Given the description of an element on the screen output the (x, y) to click on. 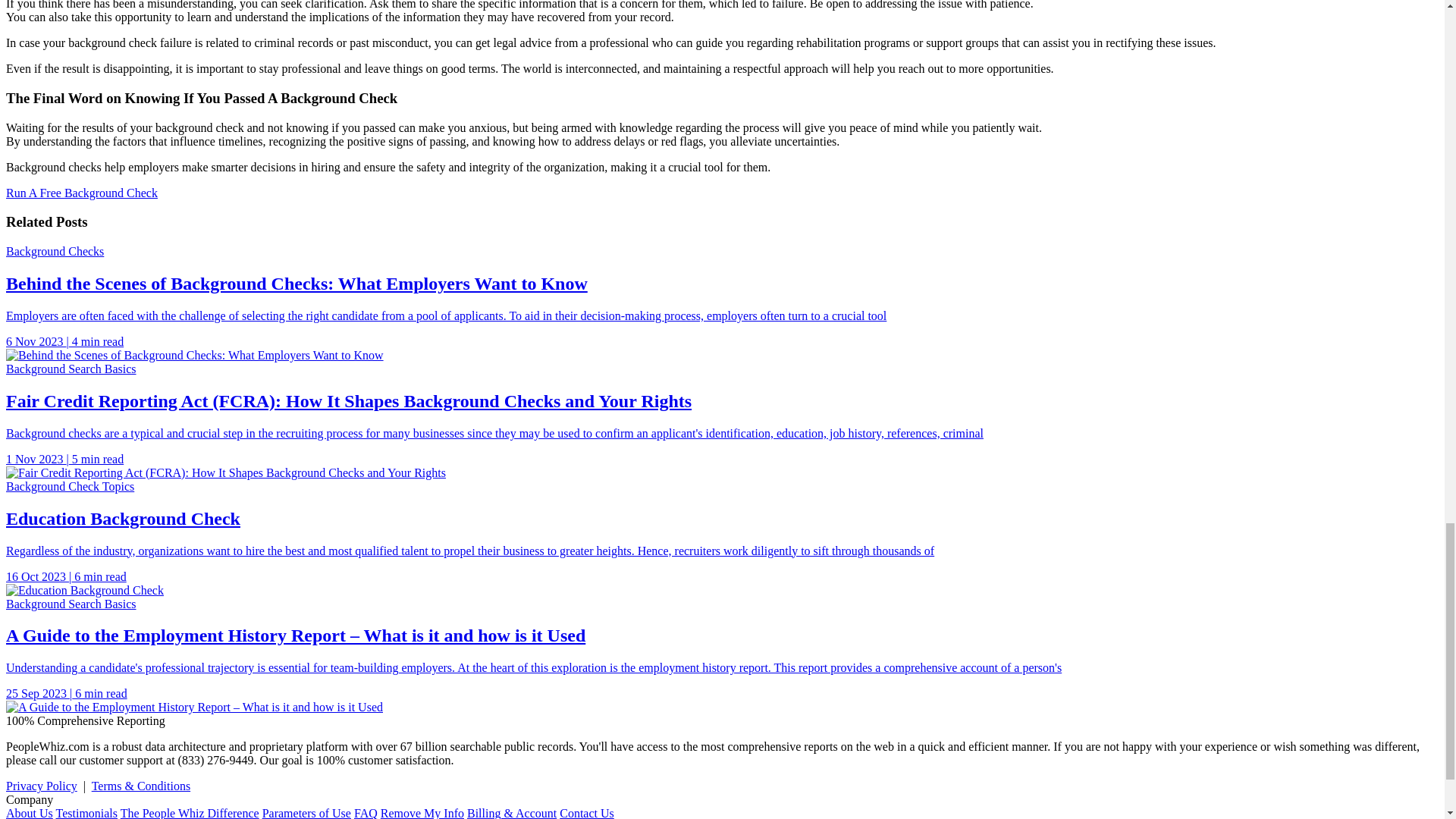
Background Check Topics (69, 486)
Run A Free Background Check (81, 192)
Privacy Policy (41, 785)
Parameters of Use (306, 812)
Remove My Info (422, 812)
Contact Us (586, 812)
Background Search Basics (70, 368)
The People Whiz Difference (189, 812)
Background Checks (54, 250)
Background Search Basics (70, 603)
